Given the description of an element on the screen output the (x, y) to click on. 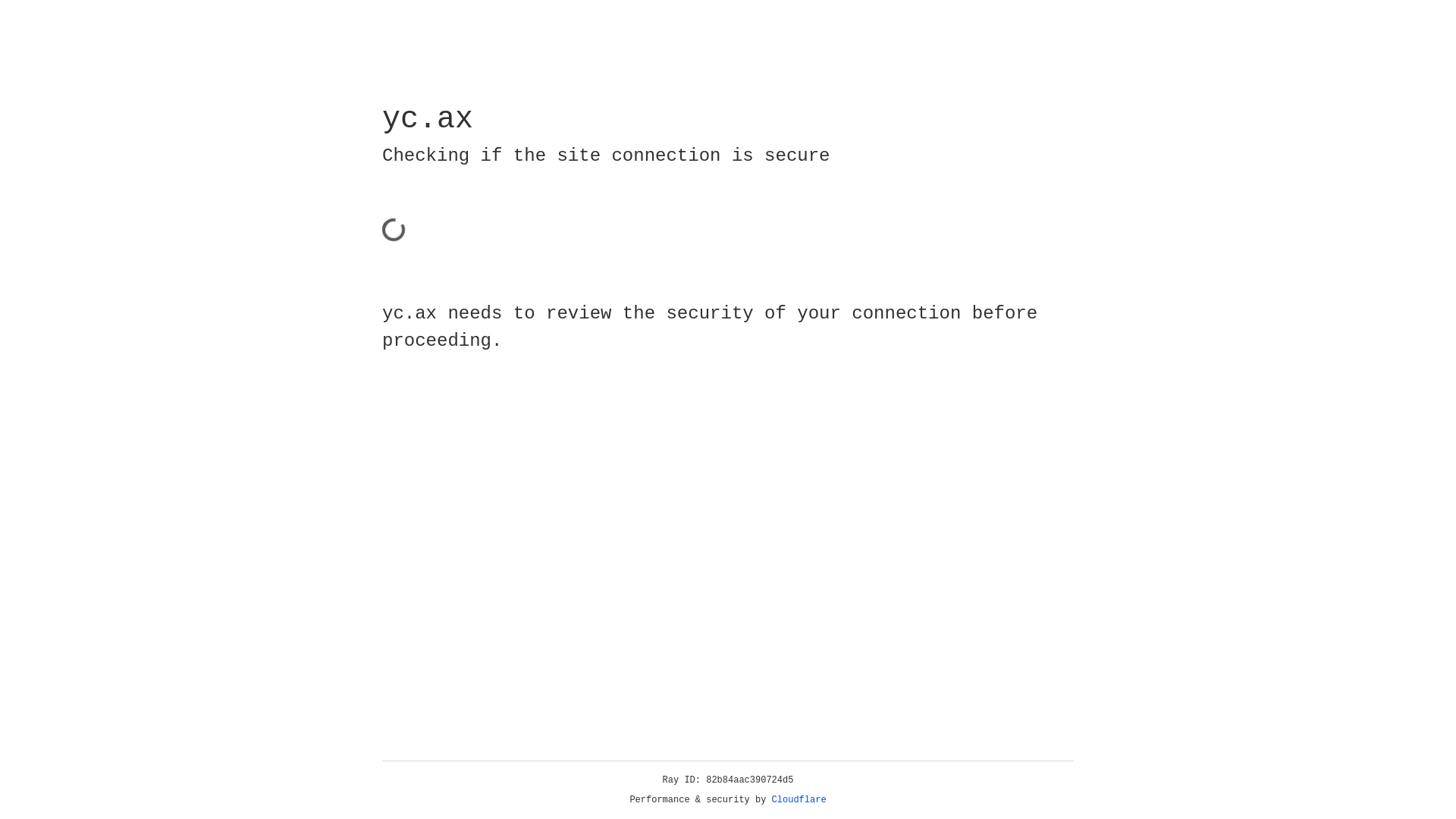
Cloudflare Element type: text (798, 799)
